Given the description of an element on the screen output the (x, y) to click on. 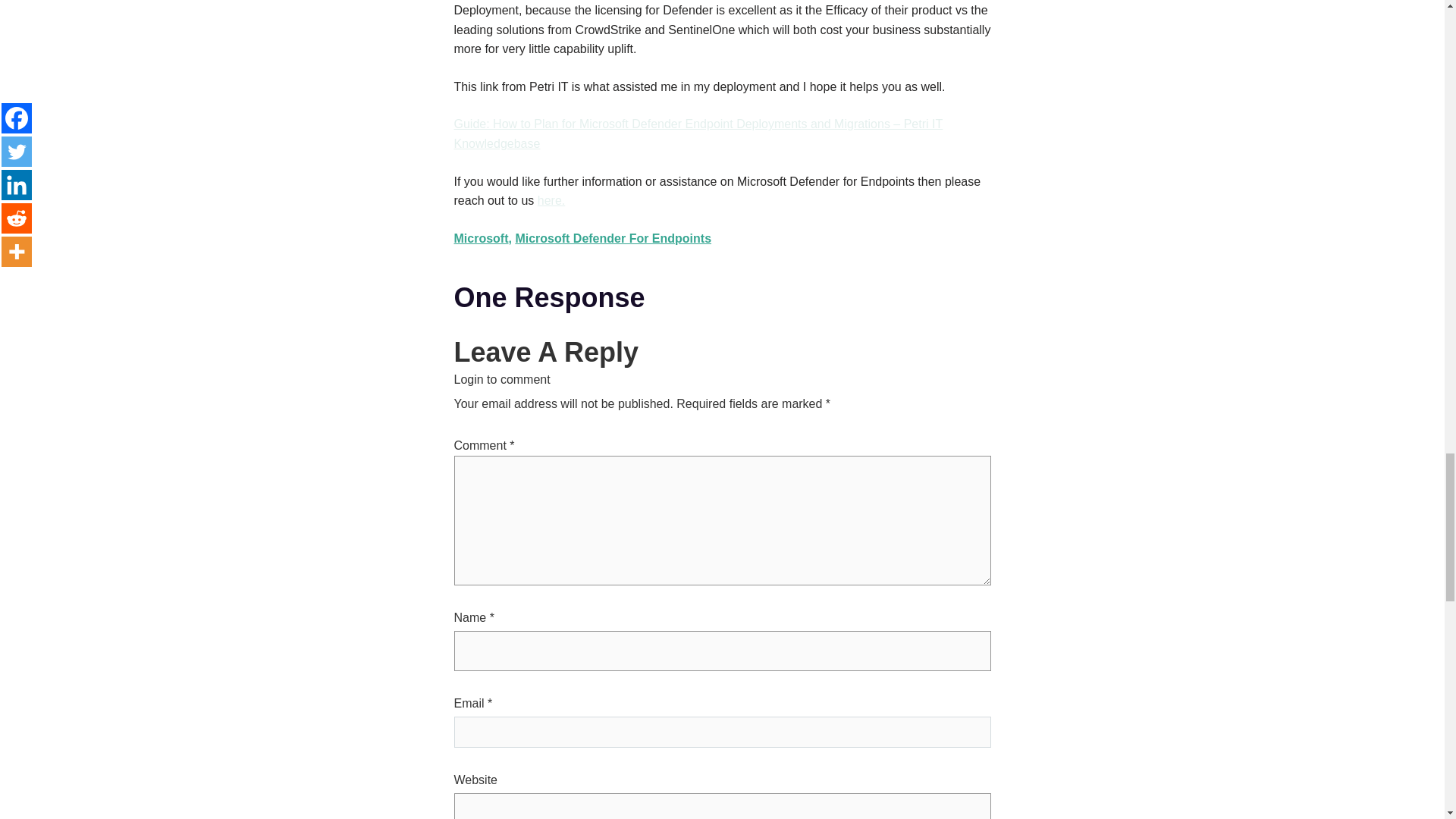
here. (550, 200)
Microsoft (480, 237)
Microsoft Defender For Endpoints (613, 237)
